Given the description of an element on the screen output the (x, y) to click on. 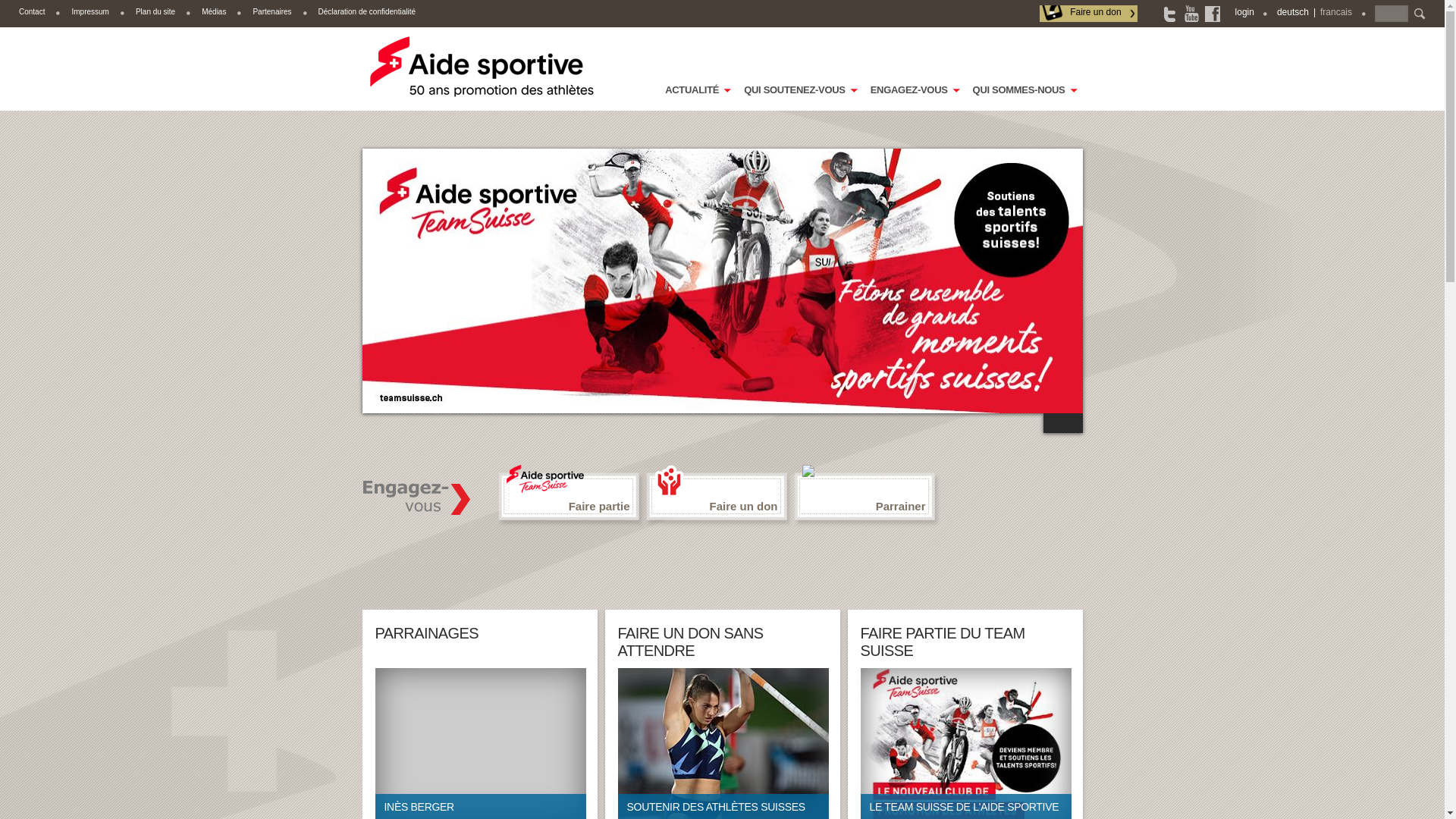
Twitter Element type: hover (1171, 13)
FAIRE UN DON SANS ATTENDRE Element type: text (689, 641)
login Element type: text (1244, 11)
ENGAGEZ-VOUS Element type: text (913, 94)
deutsch Element type: text (1292, 11)
Partenaires Element type: text (271, 11)
2 Element type: text (1072, 424)
QUI SOUTENEZ-VOUS Element type: text (799, 94)
PARRAINAGES Element type: text (425, 632)
1 Element type: text (1052, 424)
LE TEAM SUISSE DE L'AIDE SPORTIVE Element type: text (964, 743)
QUI SOMMES-NOUS Element type: text (1023, 94)
Homepage Element type: hover (482, 67)
Plan du site Element type: text (155, 11)
Faire un don Element type: text (1087, 13)
Facebook Element type: hover (1212, 13)
Impressum Element type: text (89, 11)
Youtube Element type: hover (1191, 13)
Contact Element type: text (31, 11)
FAIRE PARTIE DU TEAM SUISSE Element type: text (941, 641)
francais Element type: text (1336, 11)
